Given the description of an element on the screen output the (x, y) to click on. 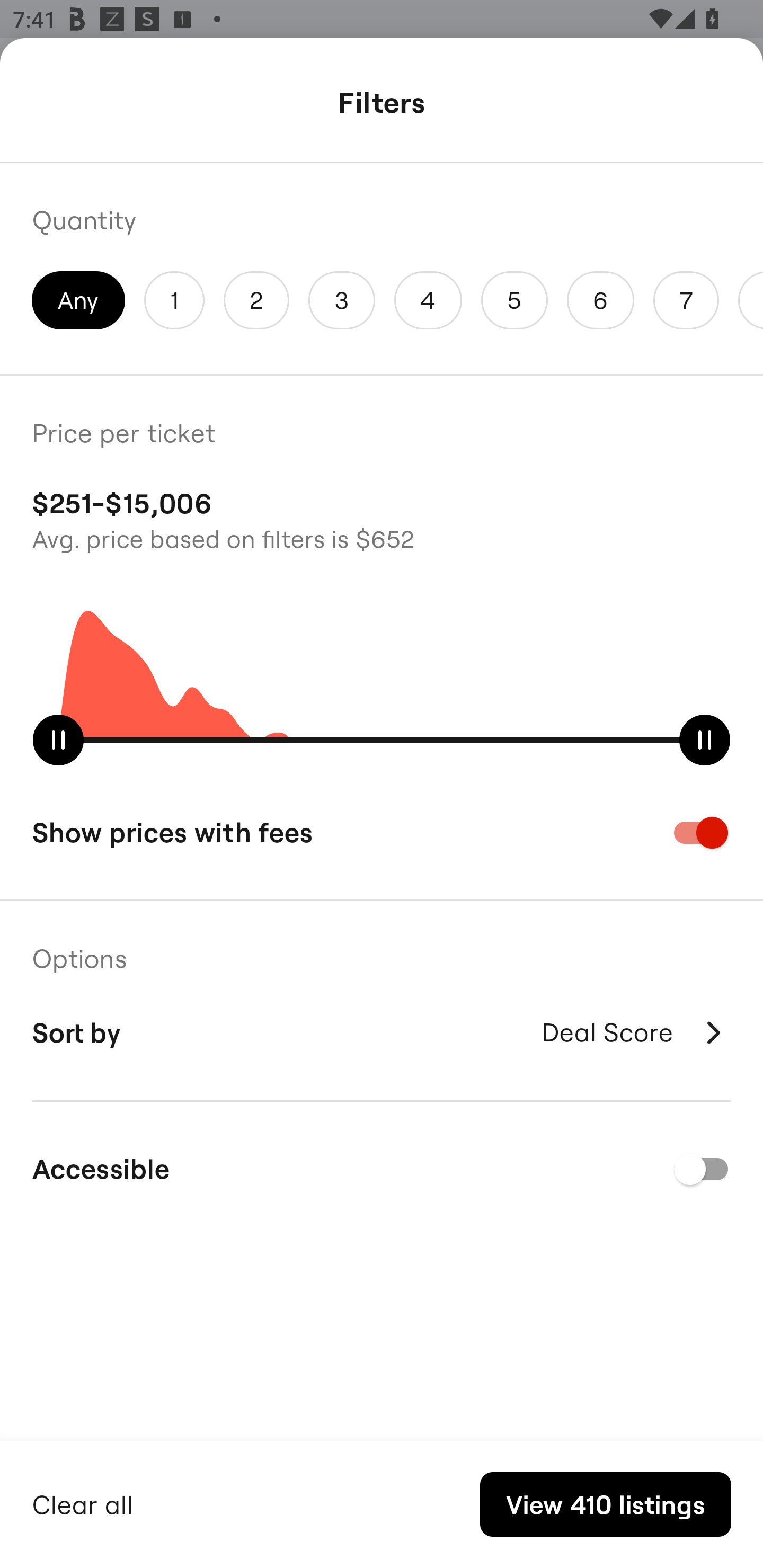
Any (78, 300)
1 (173, 300)
2 (256, 300)
3 (341, 300)
4 (427, 300)
5 (514, 300)
6 (601, 300)
7 (685, 300)
$251-$15,006 Avg. price based on filters is $652 (381, 518)
Show prices with fees (381, 832)
Sort by Deal Score (381, 1032)
Accessible (381, 1168)
Clear all (83, 1502)
View 410 listings (604, 1504)
